Given the description of an element on the screen output the (x, y) to click on. 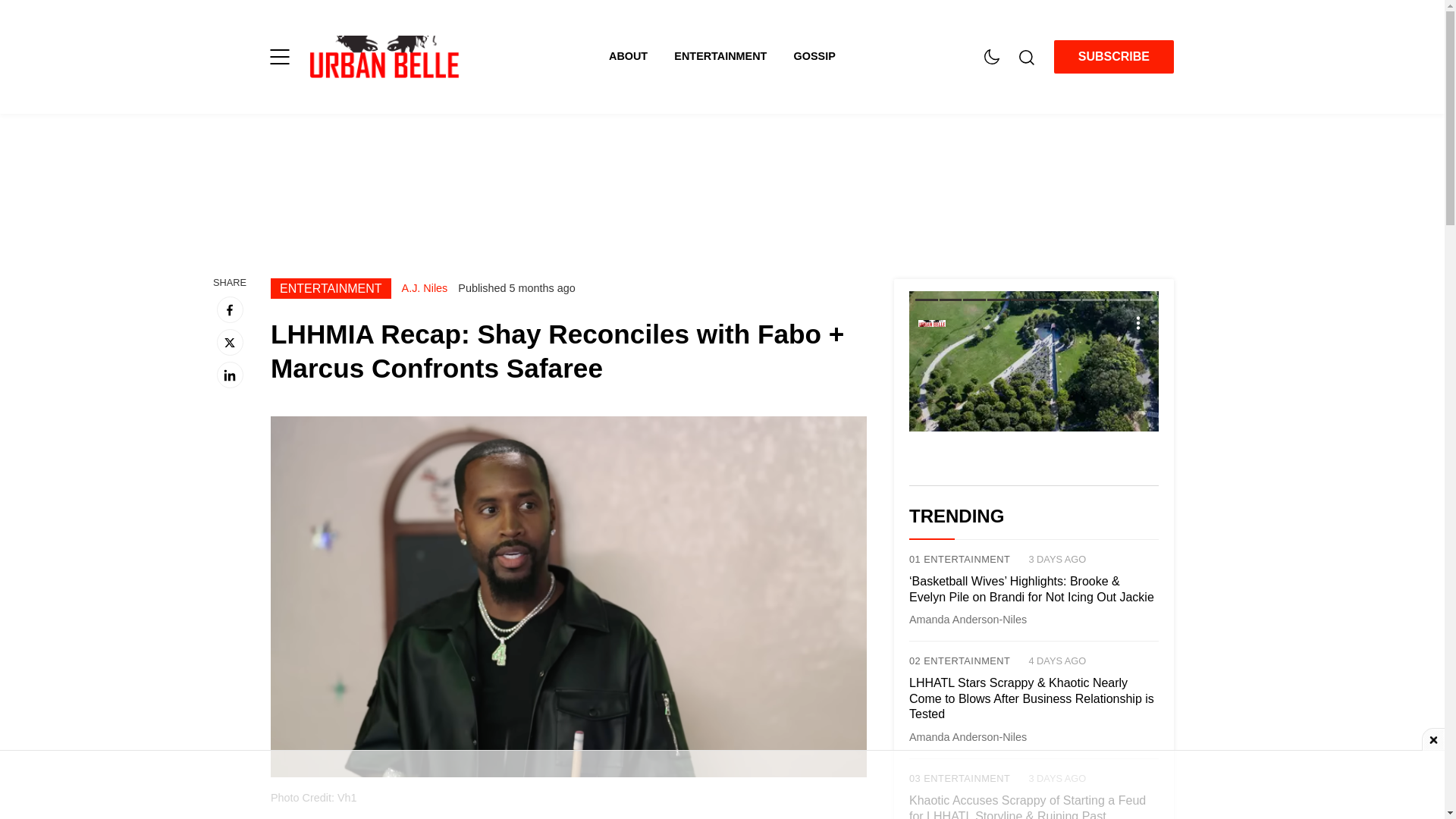
Navigation Toggler (279, 56)
3rd party ad content (721, 785)
ABOUT (641, 56)
3rd party ad content (721, 183)
ENTERTAINMENT (733, 56)
SUBSCRIBE (1113, 56)
Posts by A.J. Niles (424, 287)
GOSSIP (814, 56)
A.J. Niles (424, 287)
ENTERTAINMENT (330, 288)
SUBSCRIBE (1113, 57)
